Given the description of an element on the screen output the (x, y) to click on. 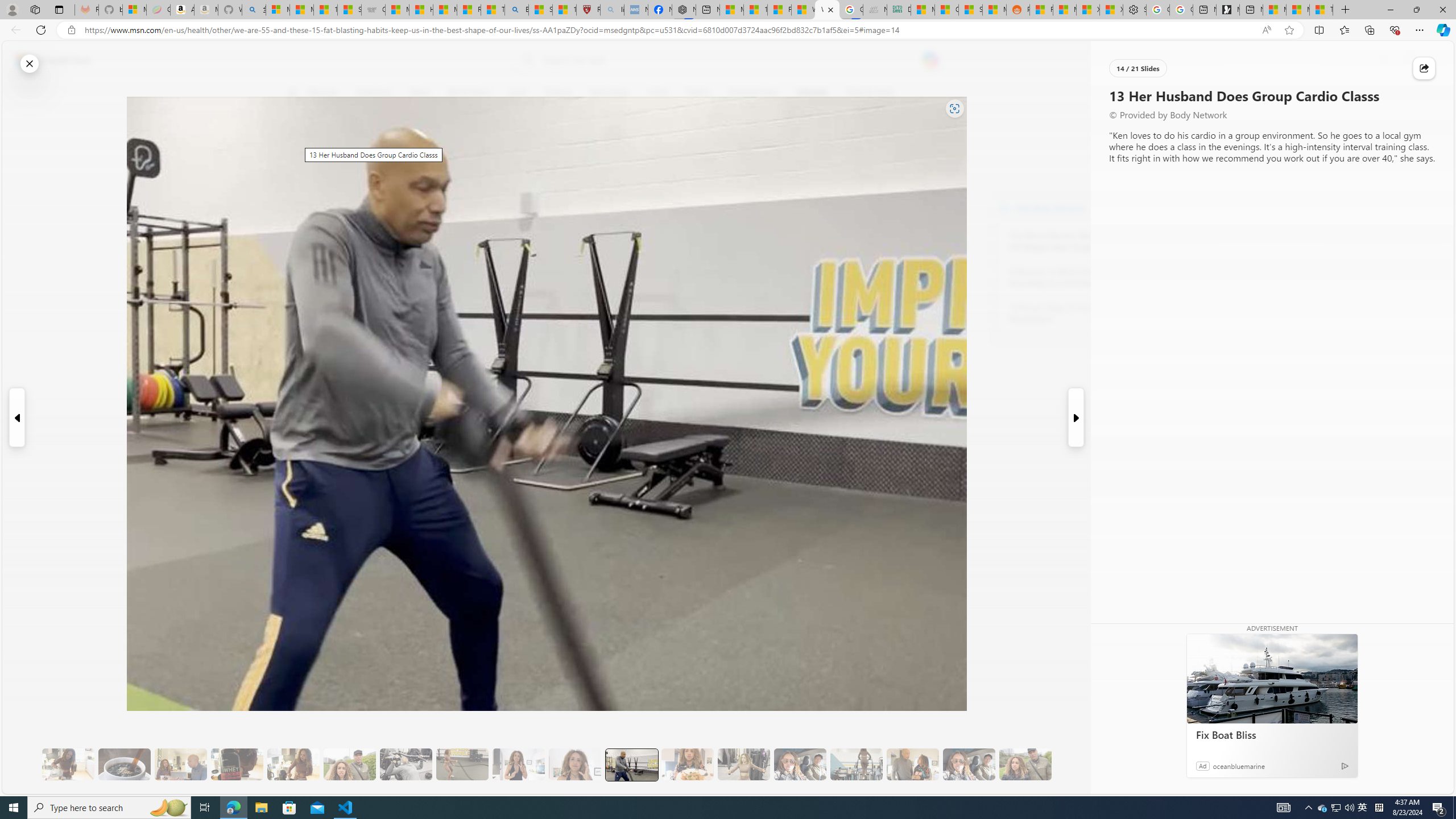
6 Since Eating More Protein Her Training Has Improved (237, 764)
Class: at-item (299, 266)
R******* | Trusted Community Engagement and Contributions (1041, 9)
7 They Don't Skip Meals (293, 764)
